Given the description of an element on the screen output the (x, y) to click on. 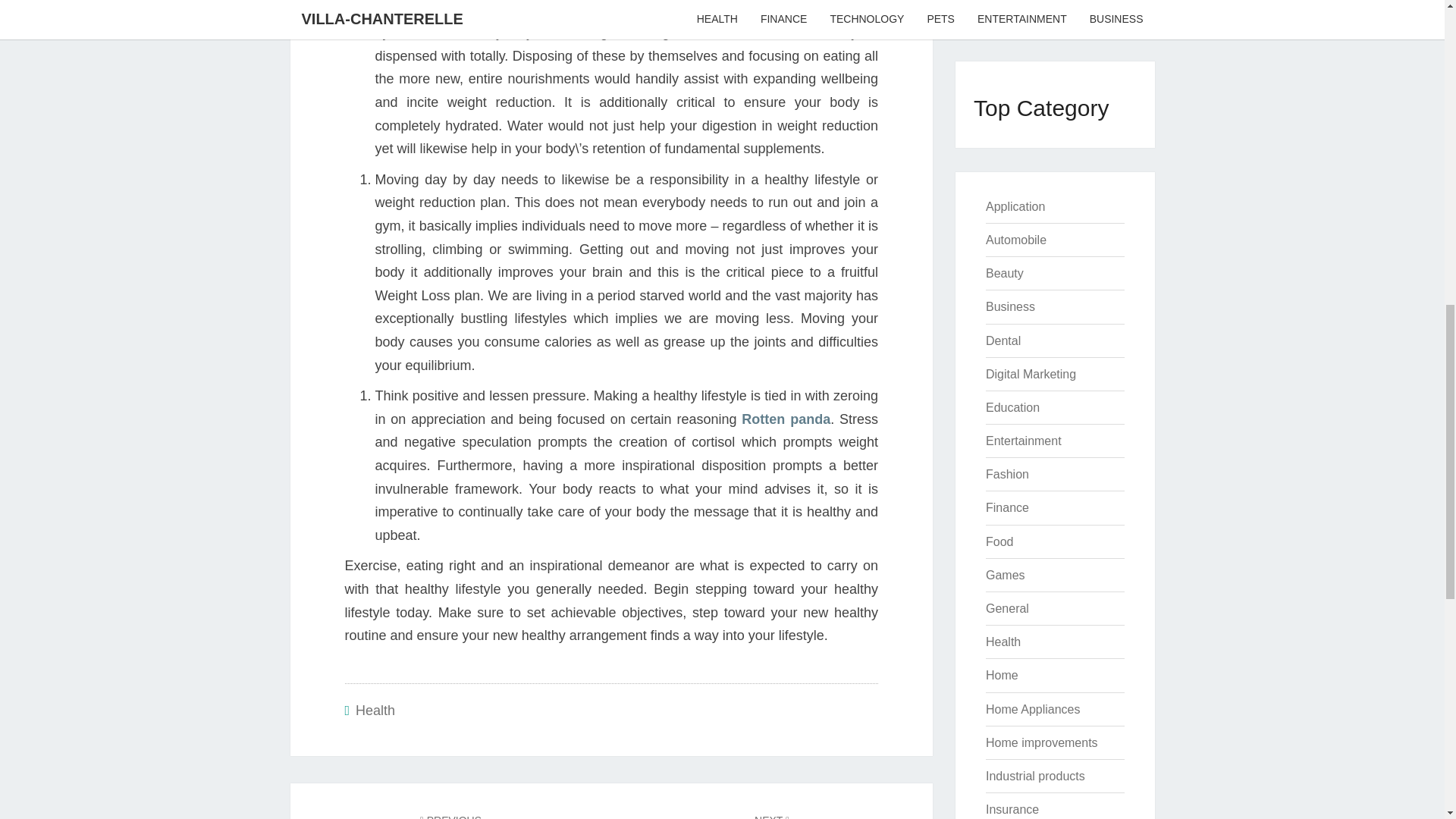
Entertainment (1023, 440)
Home Appliances (1032, 708)
Automobile (450, 815)
Education (1015, 239)
Industrial products (1012, 407)
Application (1034, 775)
Fashion (1015, 205)
Health (1007, 473)
